Given the description of an element on the screen output the (x, y) to click on. 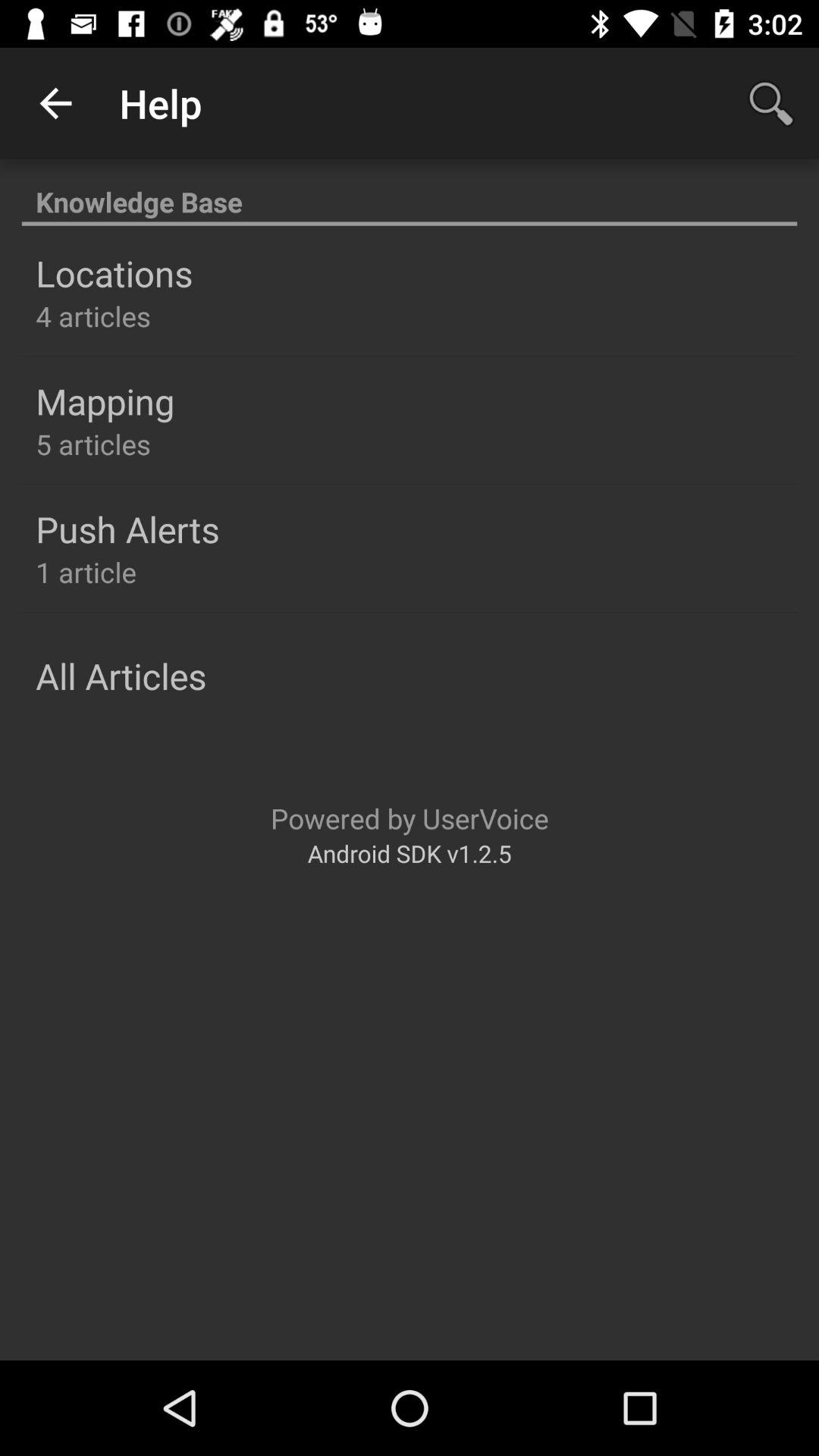
turn on the icon above the 4 articles (113, 273)
